Given the description of an element on the screen output the (x, y) to click on. 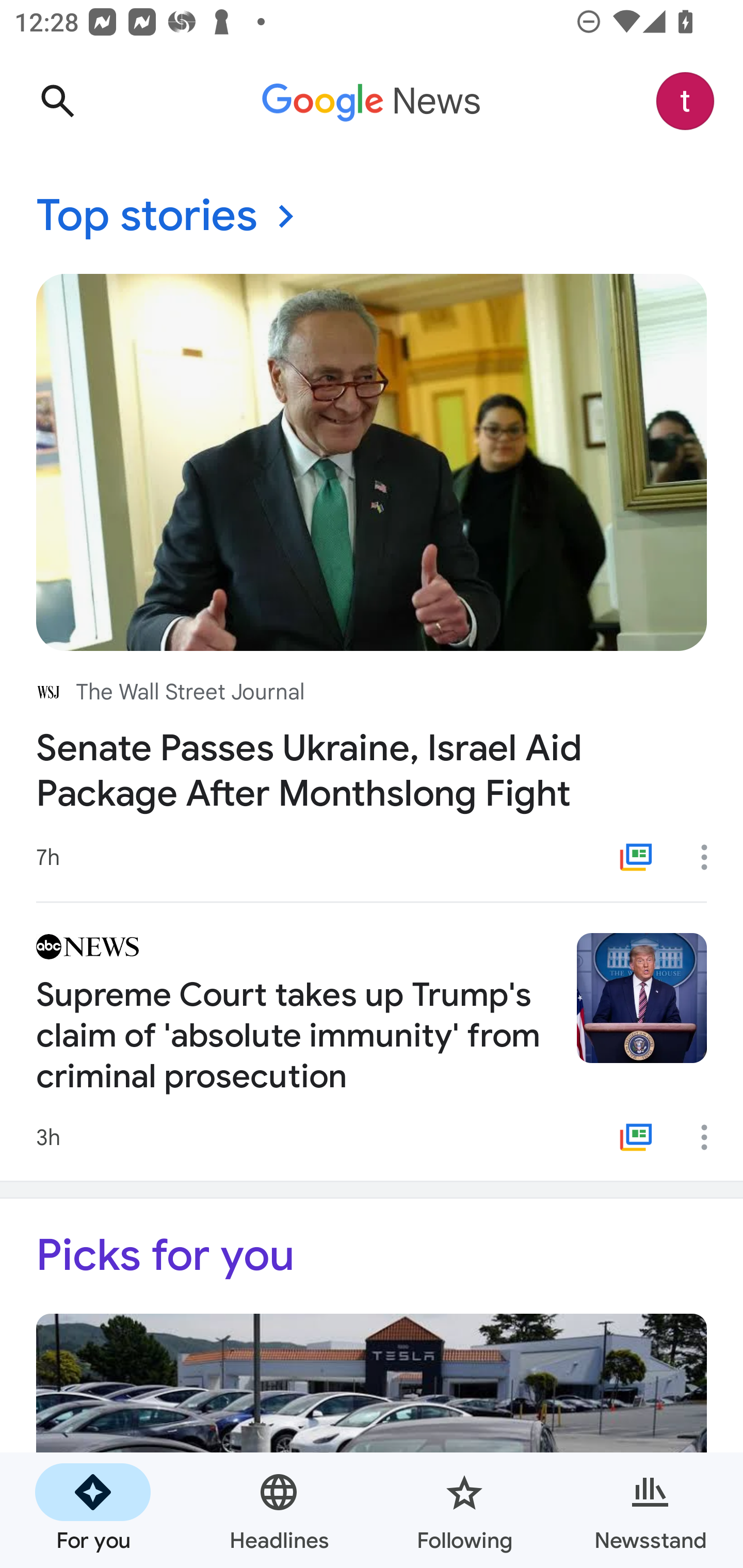
Search (57, 100)
Top stories (371, 216)
More options (711, 856)
More options (711, 1137)
For you (92, 1509)
Headlines (278, 1509)
Following (464, 1509)
Newsstand (650, 1509)
